Given the description of an element on the screen output the (x, y) to click on. 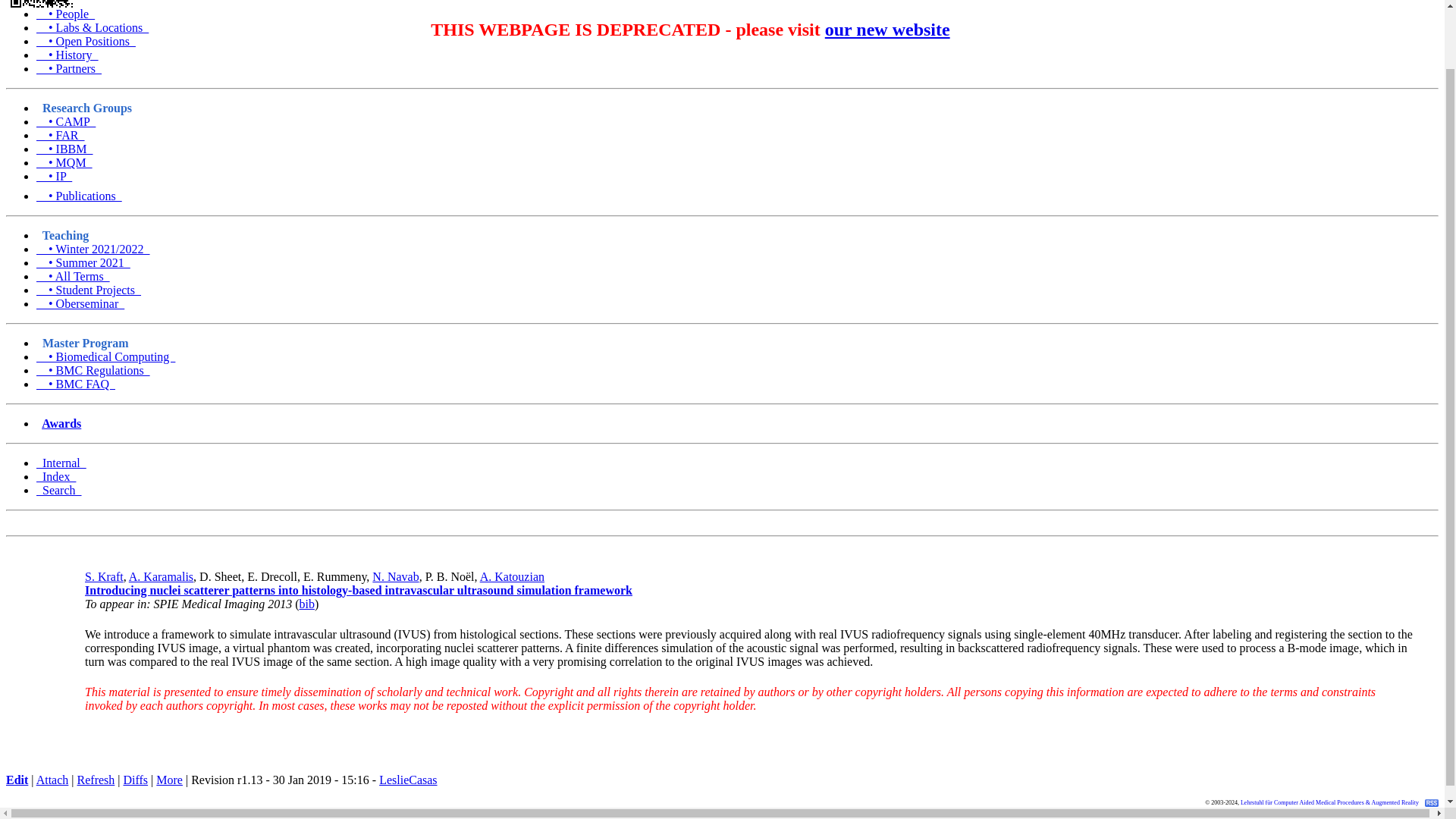
bib (306, 603)
Edit (16, 779)
A. Karamalis (161, 576)
Awards (61, 422)
  Index   (55, 476)
  Search   (58, 490)
our new website (887, 29)
  Internal   (60, 462)
A. Katouzian (512, 576)
S. Kraft (103, 576)
